Given the description of an element on the screen output the (x, y) to click on. 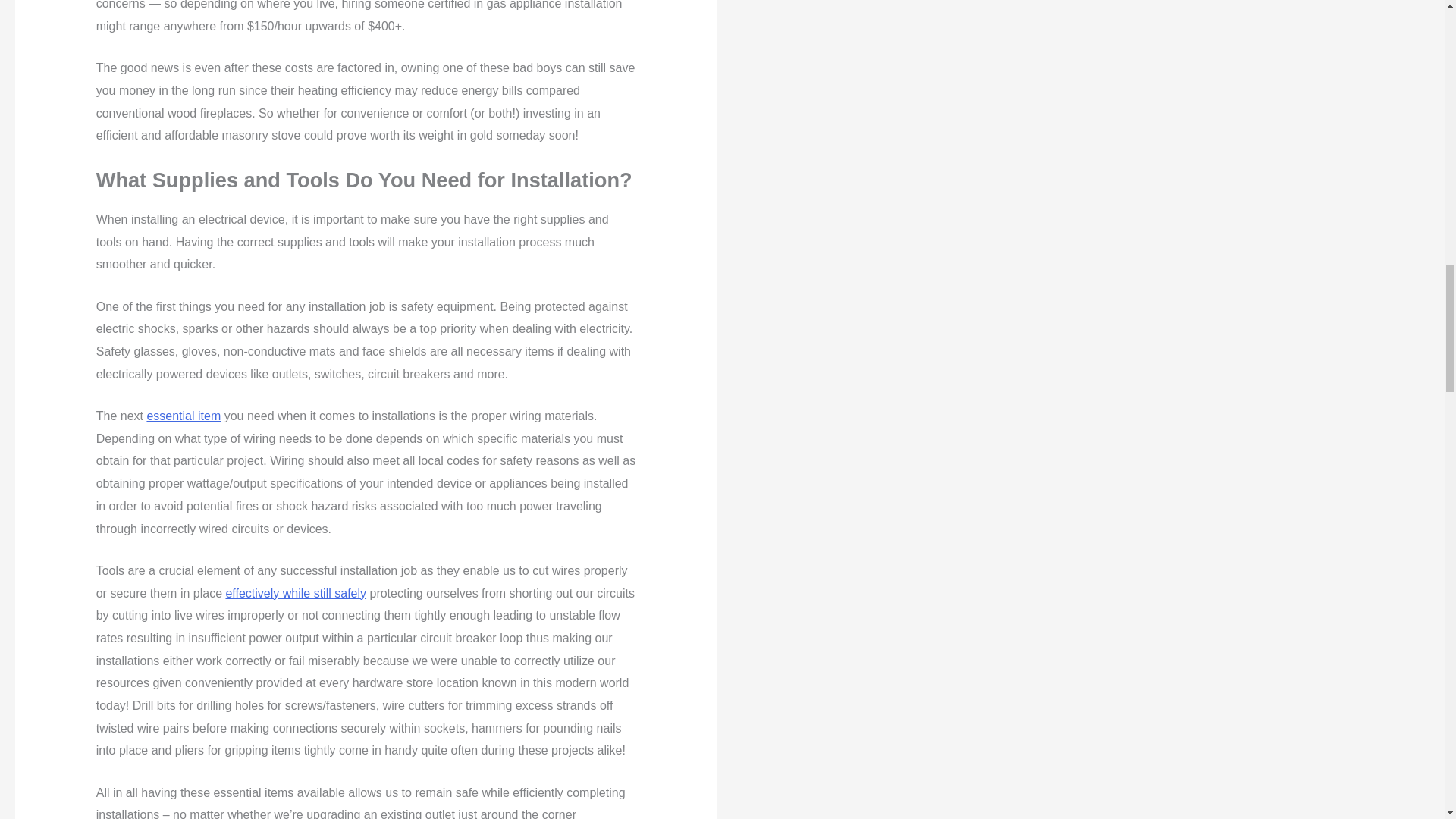
essential item (184, 415)
effectively while still safely (295, 593)
